Given the description of an element on the screen output the (x, y) to click on. 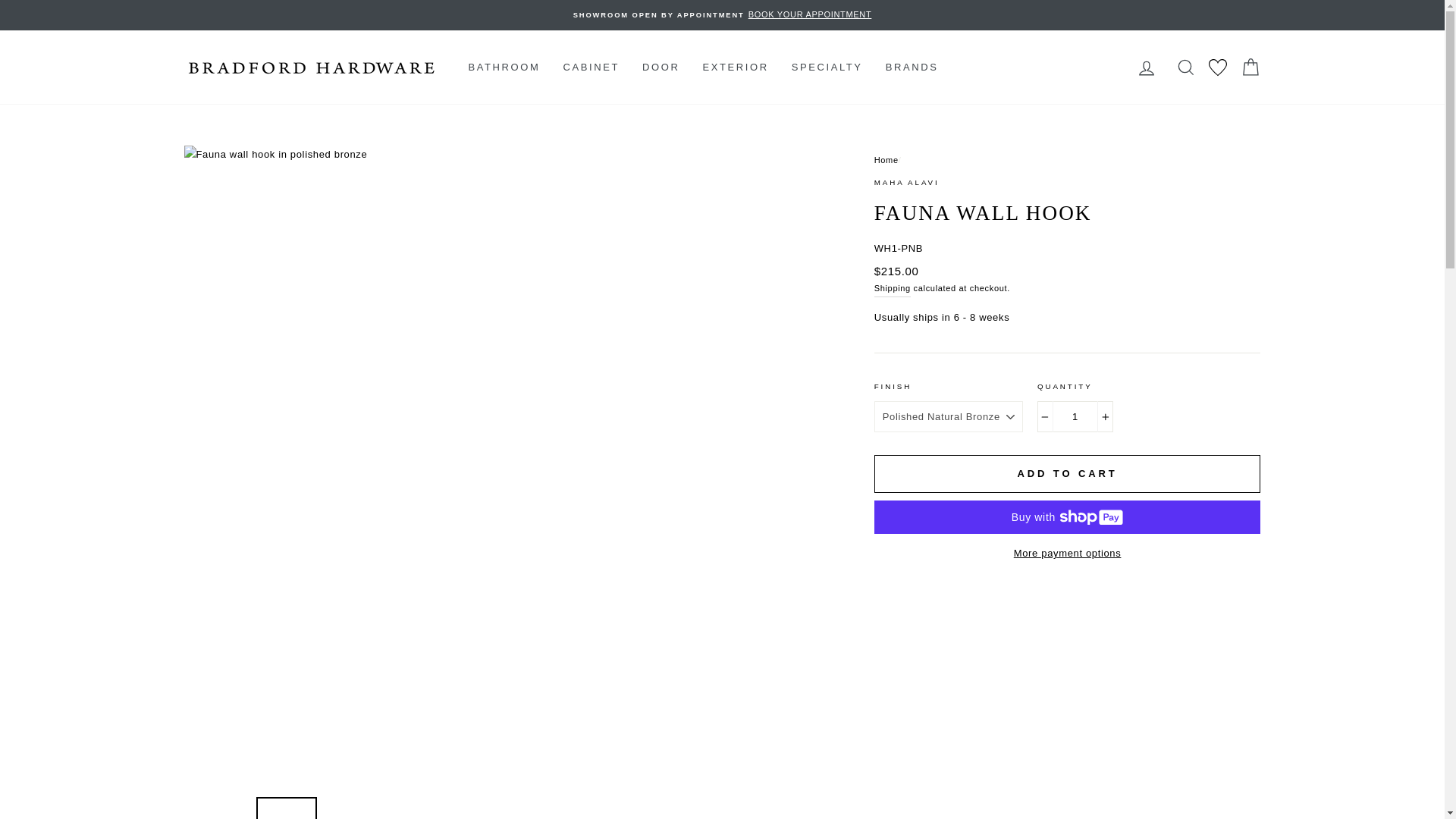
Back to the frontpage (886, 159)
1 (1074, 416)
